Given the description of an element on the screen output the (x, y) to click on. 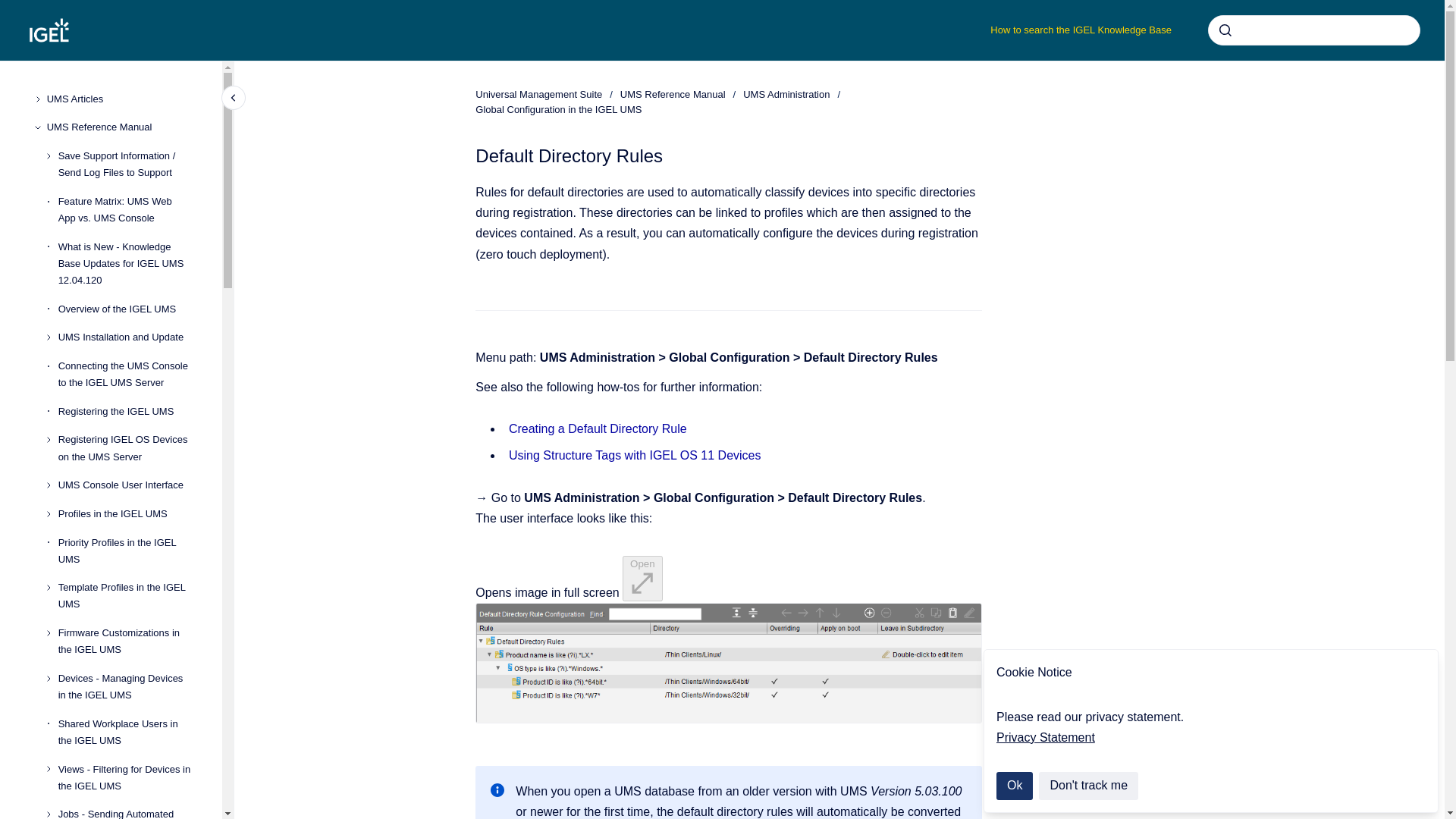
Go to homepage (49, 30)
UMS Console User Interface (128, 484)
Registering the IGEL UMS (128, 411)
Profiles in the IGEL UMS (128, 513)
Overview of the IGEL UMS (128, 308)
What is New - Knowledge Base Updates for IGEL UMS 12.04.120 (128, 263)
Template Profiles in the IGEL UMS (128, 596)
Firmware Customizations in the IGEL UMS (128, 641)
Registering IGEL OS Devices on the UMS Server (128, 448)
Connecting the UMS Console to the IGEL UMS Server (128, 374)
